Given the description of an element on the screen output the (x, y) to click on. 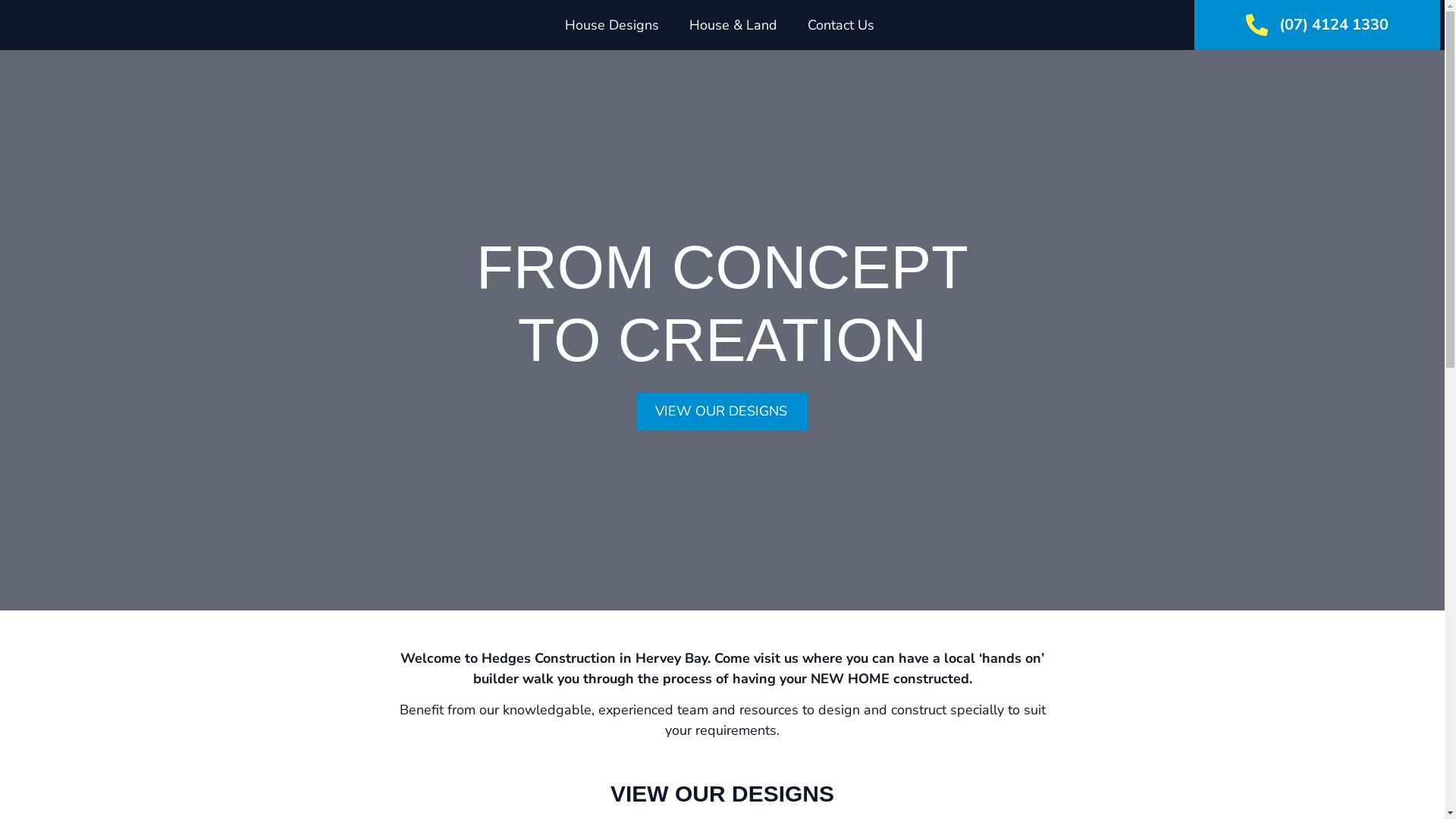
House Designs Element type: text (611, 24)
House & Land Element type: text (733, 24)
(07) 4124 1330 Element type: text (1333, 24)
VIEW OUR DESIGNS Element type: text (722, 410)
Contact Us Element type: text (840, 24)
